Given the description of an element on the screen output the (x, y) to click on. 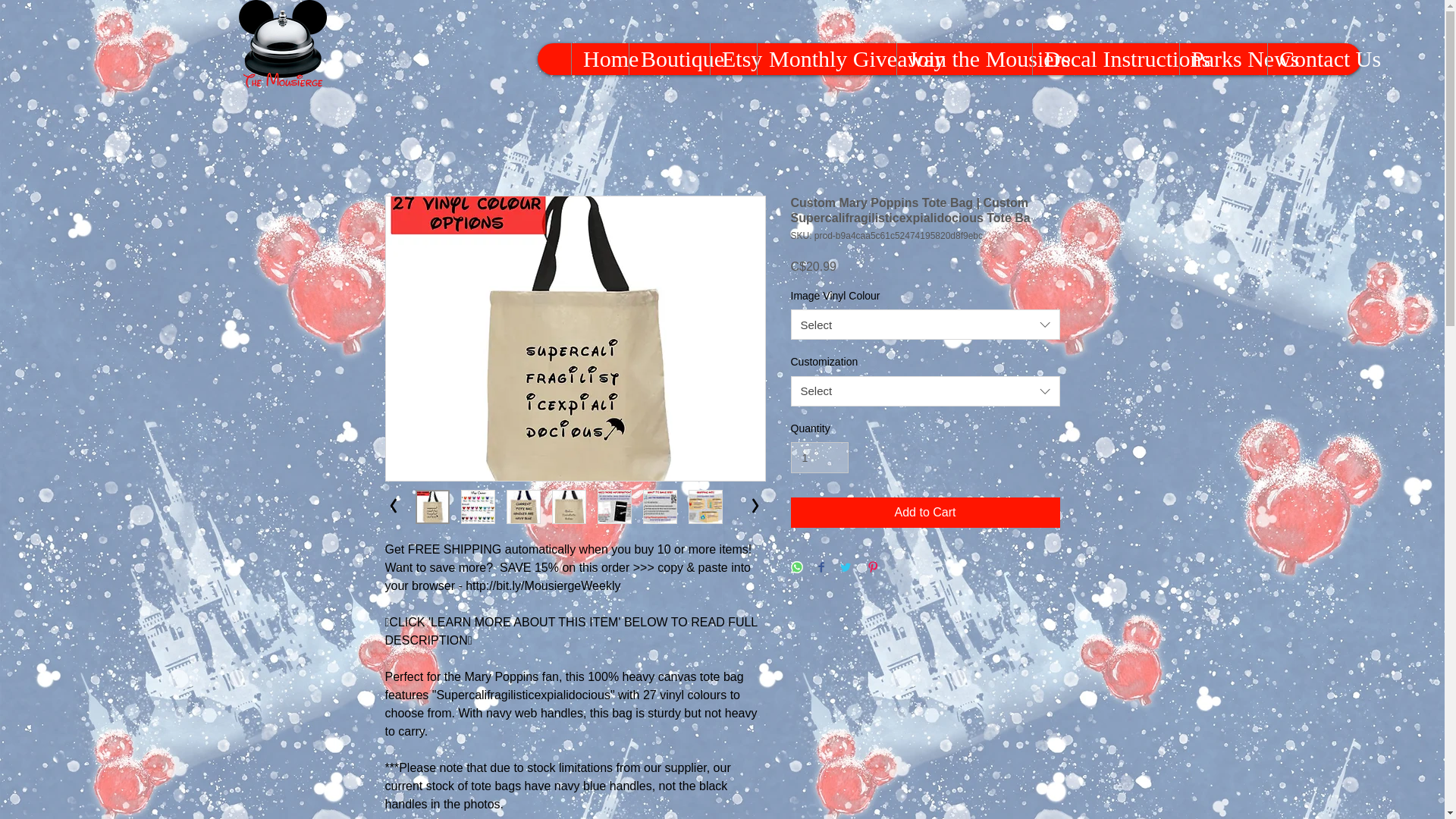
Add to Cart (924, 512)
Select (924, 324)
1 (818, 457)
Join the Mousiers (964, 59)
Home (599, 59)
Select (924, 390)
Contact Us (1313, 59)
Decal Instructions (1105, 59)
Parks News (1222, 59)
Monthly Giveaway (826, 59)
Etsy (733, 59)
Boutique (669, 59)
